Given the description of an element on the screen output the (x, y) to click on. 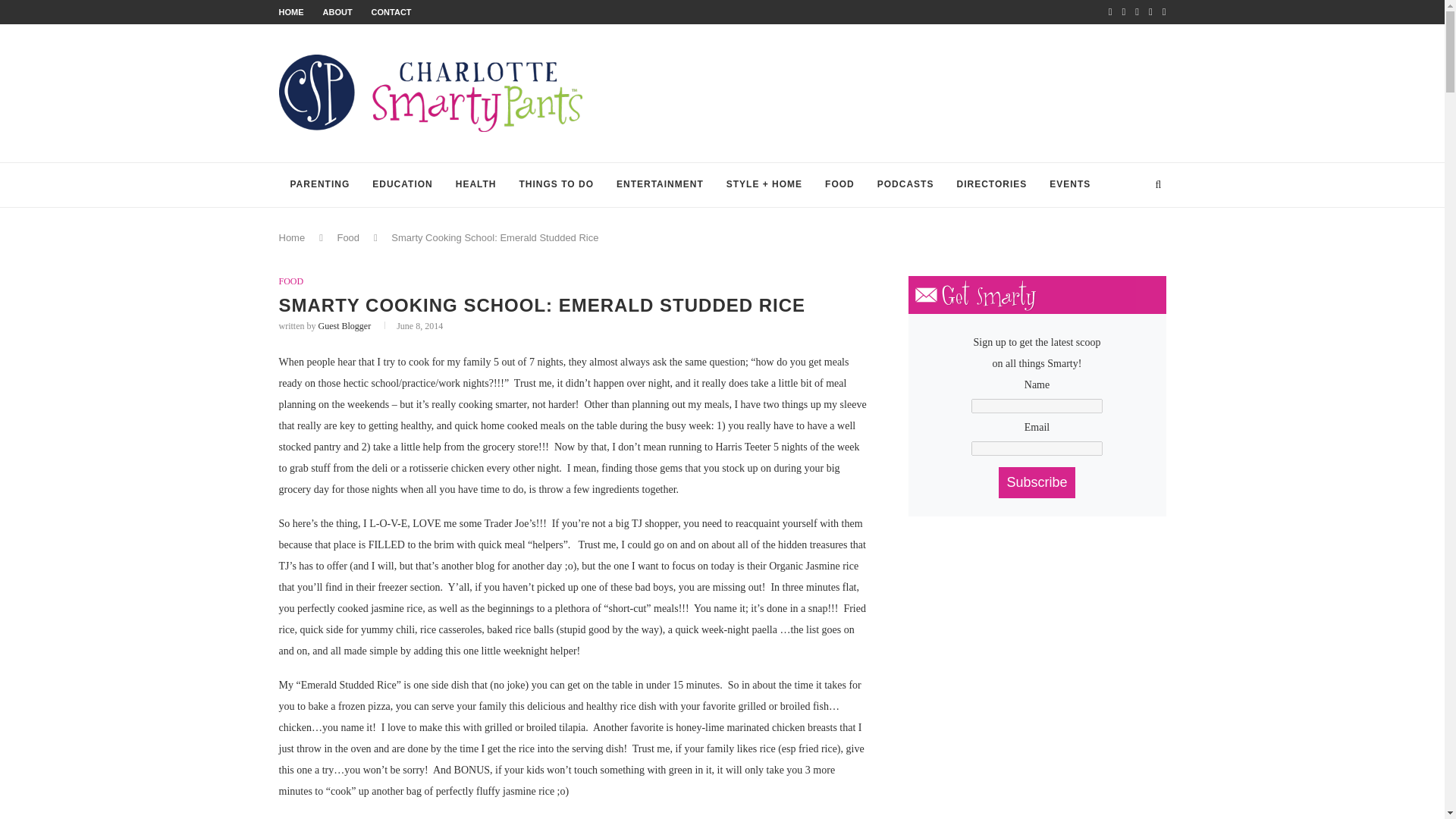
Home (292, 237)
DIRECTORIES (991, 185)
ENTERTAINMENT (659, 185)
PARENTING (320, 185)
Food (347, 237)
EDUCATION (402, 185)
CONTACT (391, 11)
ABOUT (337, 11)
HOME (291, 11)
Guest Blogger (344, 326)
EVENTS (1070, 185)
HEALTH (476, 185)
PODCASTS (905, 185)
FOOD (839, 185)
THINGS TO DO (556, 185)
